Given the description of an element on the screen output the (x, y) to click on. 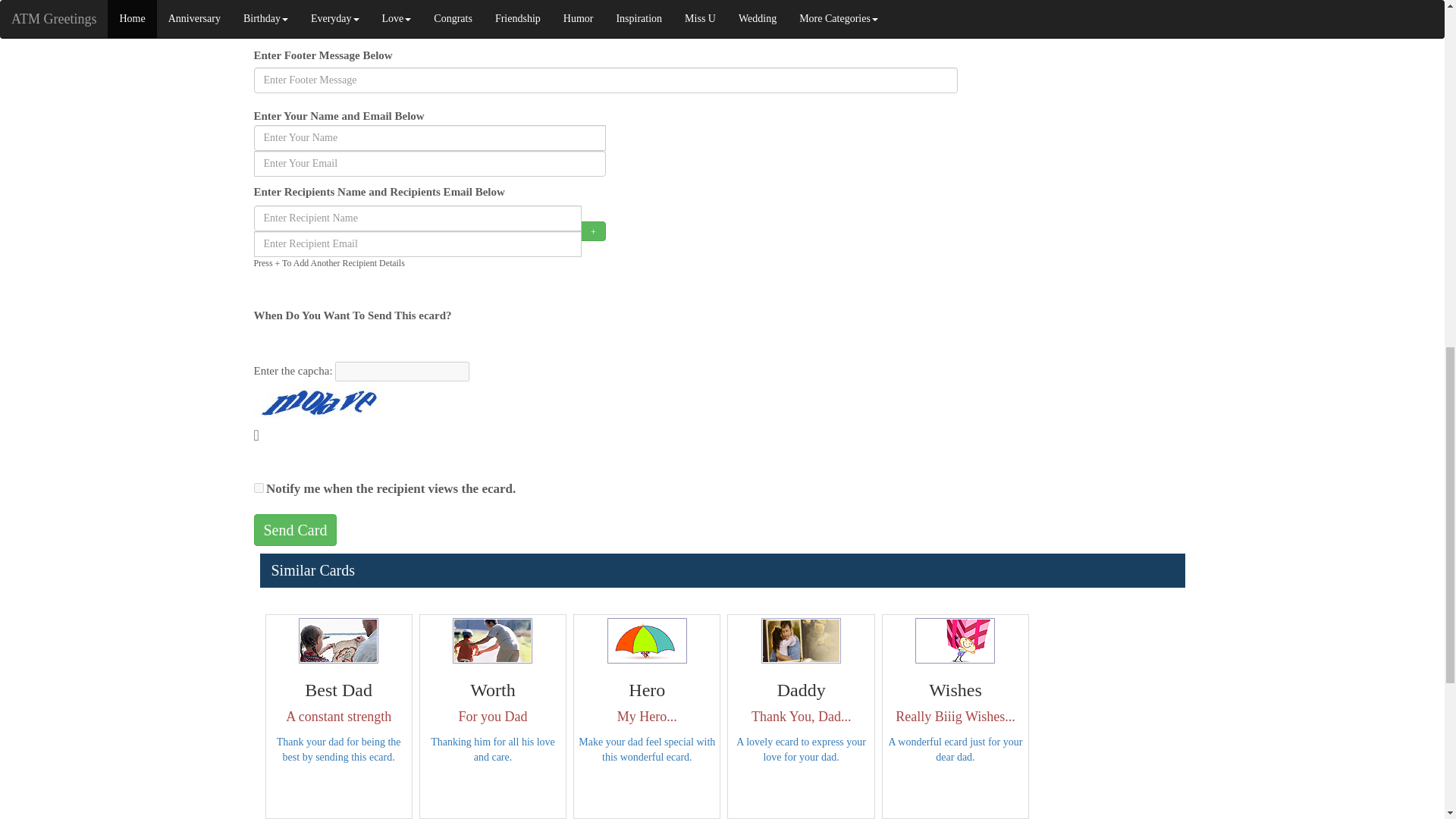
Advertisement (1079, 76)
For you Dad (492, 640)
checked (258, 488)
Really Biiig Wishes... (954, 640)
Send Card (294, 530)
Thank You, Dad... (801, 640)
My Hero... (647, 640)
A constant strength (338, 640)
